Given the description of an element on the screen output the (x, y) to click on. 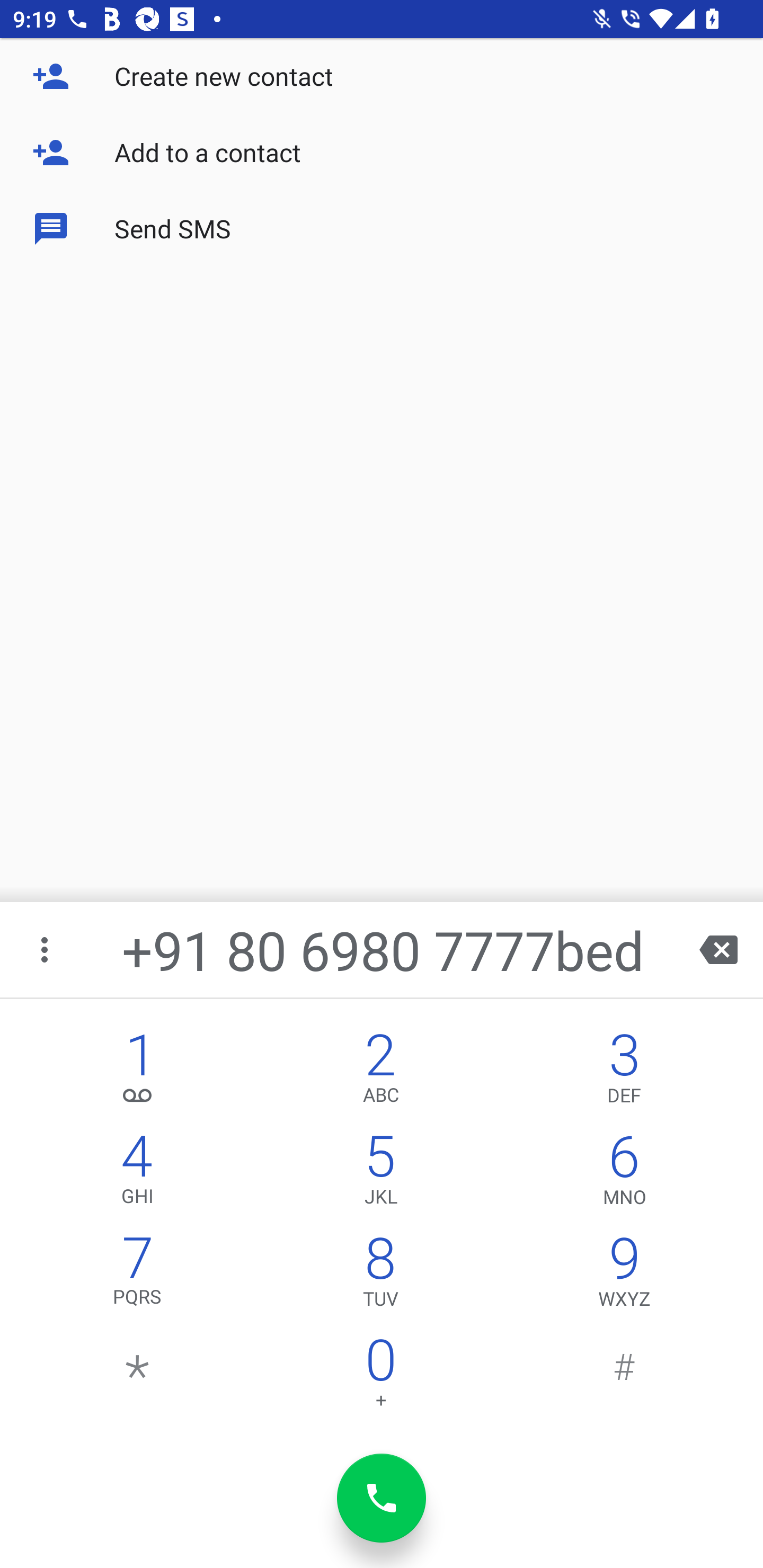
Create new contact (381, 75)
Add to a contact (381, 152)
Send SMS (381, 228)
+91 80 6980 7777bed (382, 949)
backspace (718, 949)
More options (45, 949)
1, 1 (137, 1071)
2,ABC 2 ABC (380, 1071)
3,DEF 3 DEF (624, 1071)
4,GHI 4 GHI (137, 1173)
5,JKL 5 JKL (380, 1173)
6,MNO 6 MNO (624, 1173)
7,PQRS 7 PQRS (137, 1275)
8,TUV 8 TUV (380, 1275)
9,WXYZ 9 WXYZ (624, 1275)
* (137, 1377)
0 0 + (380, 1377)
# (624, 1377)
dial (381, 1497)
